Given the description of an element on the screen output the (x, y) to click on. 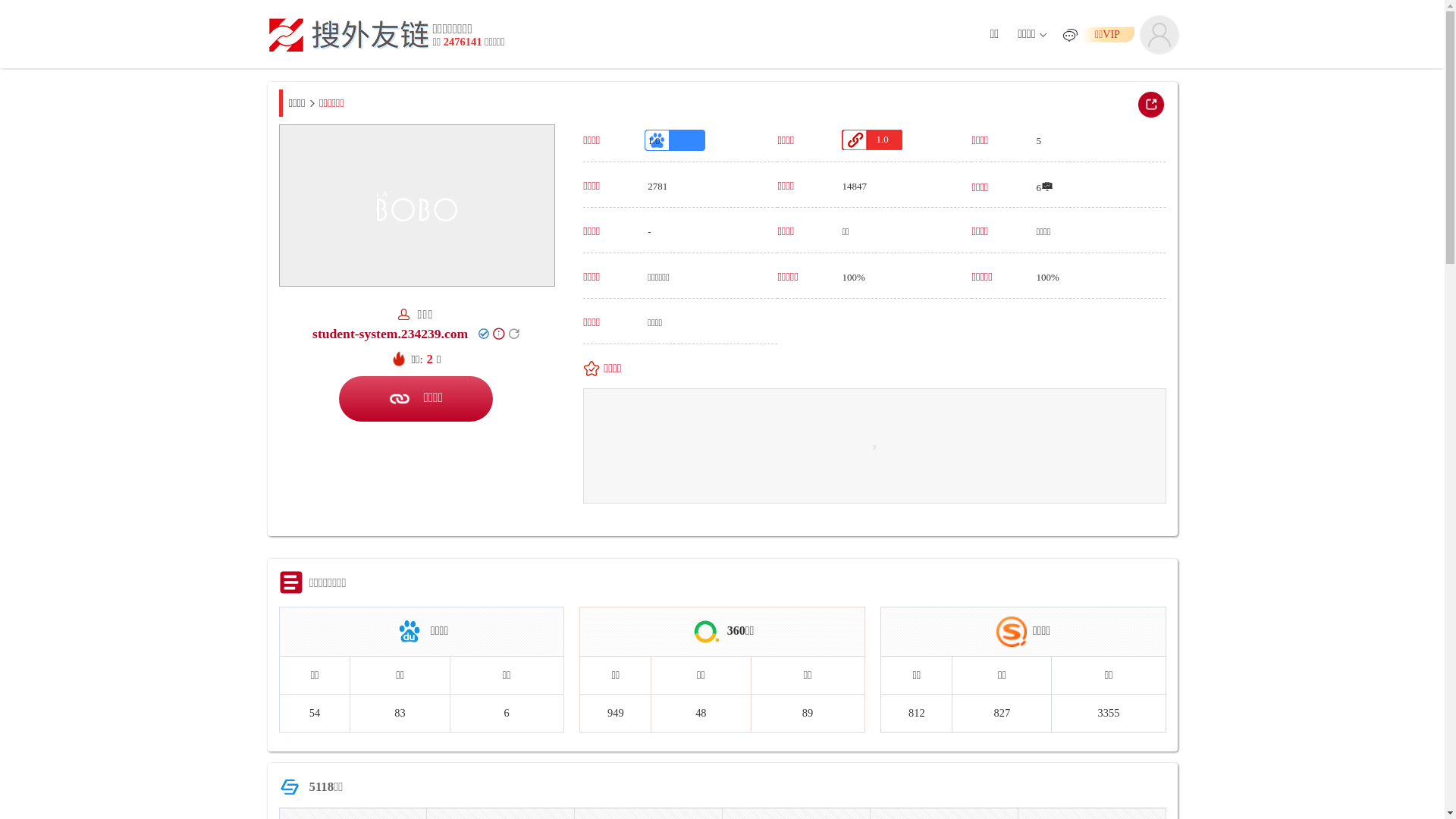
student-system.234239.com Element type: text (389, 333)
